Given the description of an element on the screen output the (x, y) to click on. 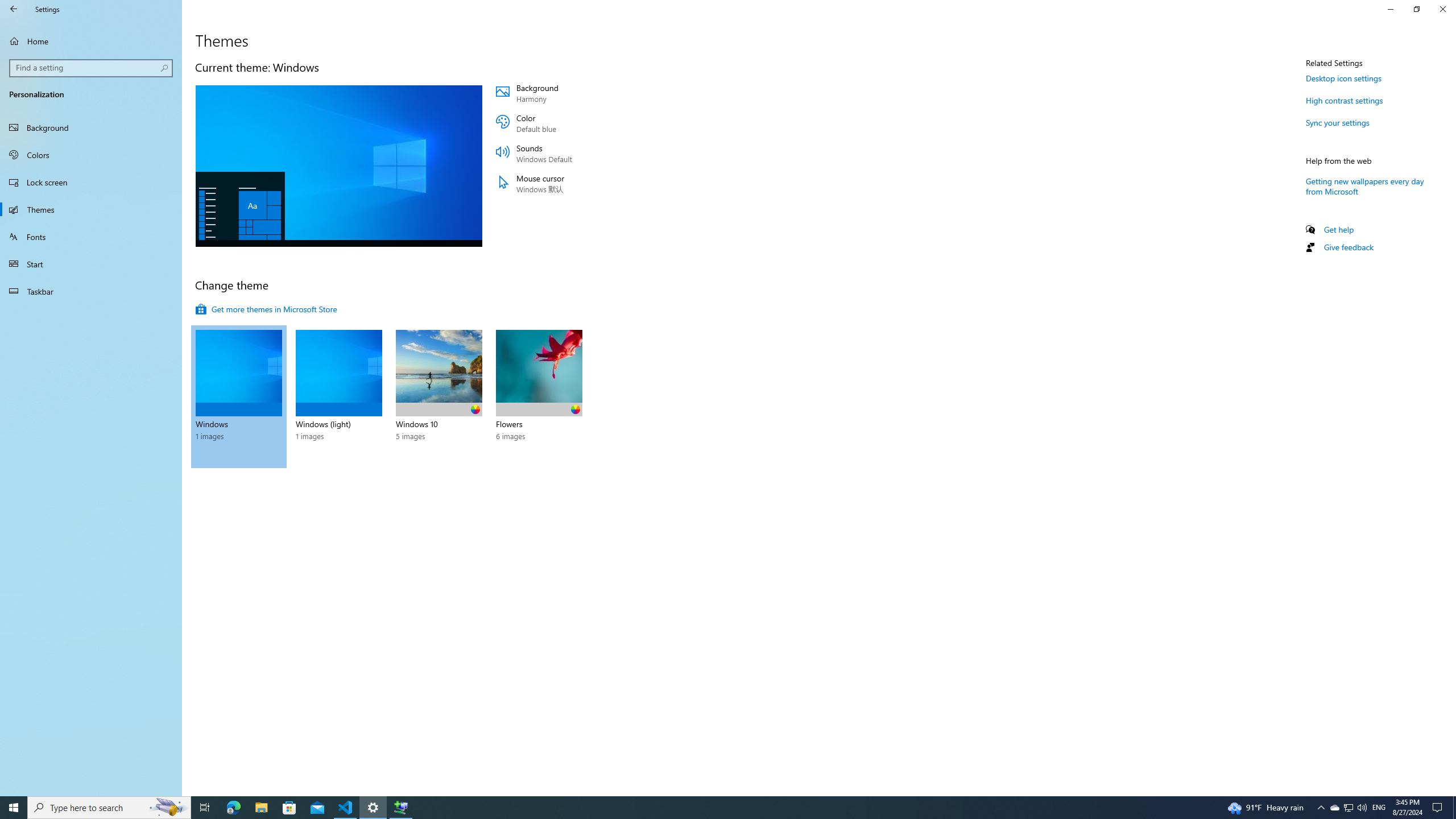
Getting new wallpapers every day from Microsoft (1364, 185)
Taskbar (91, 290)
Tray Input Indicator - English (United States) (1378, 807)
Lock screen (91, 181)
Flowers 6 images (539, 396)
Minimize Settings (1390, 9)
Desktop icon settings (1343, 77)
